Given the description of an element on the screen output the (x, y) to click on. 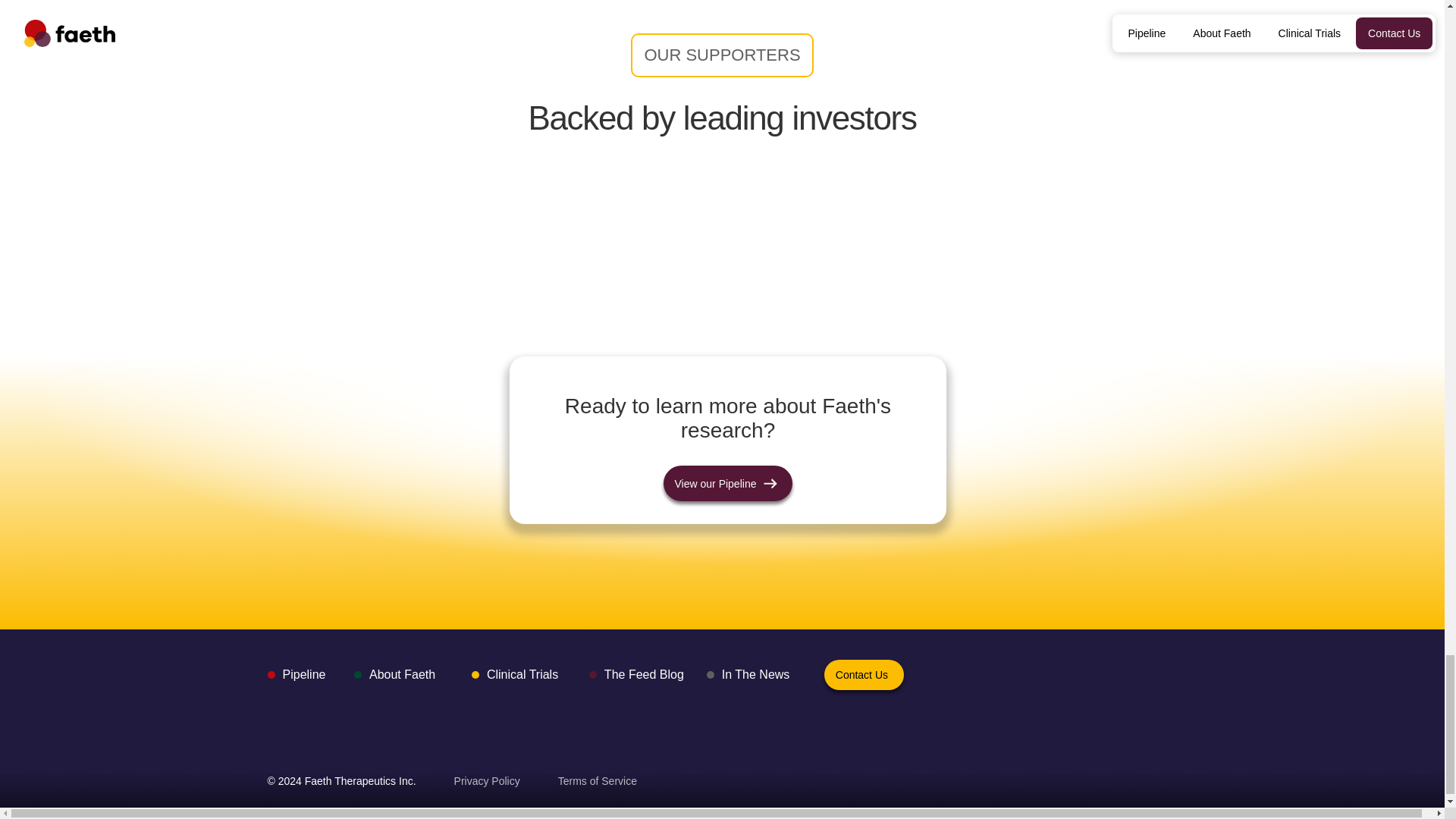
Terms of Service (597, 780)
In The News (751, 674)
About Faeth (397, 674)
Pipeline (299, 674)
The Feed Blog (640, 674)
Clinical Trials (518, 674)
Contact Us (864, 675)
Privacy Policy (486, 780)
View our Pipeline (728, 483)
